Given the description of an element on the screen output the (x, y) to click on. 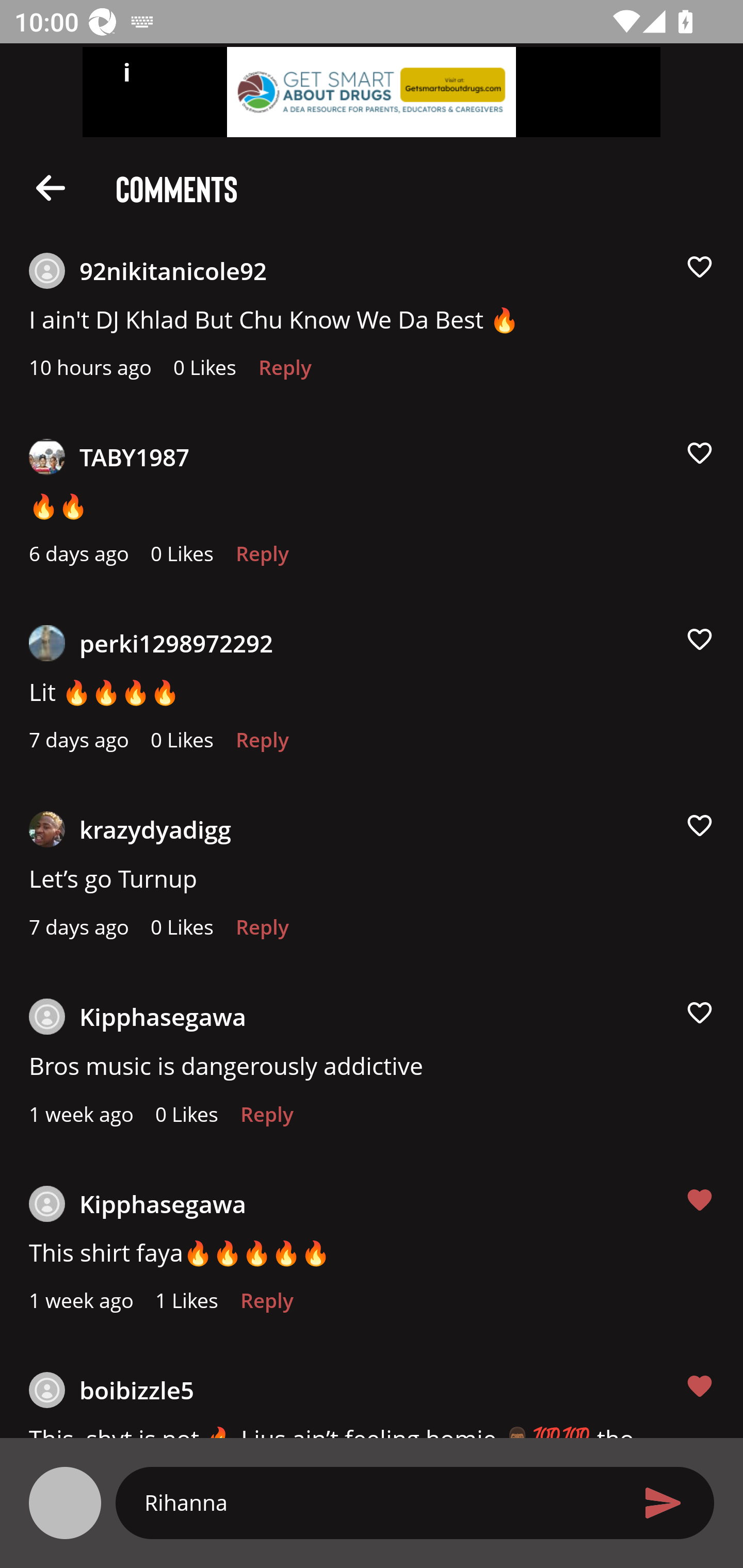
Description (50, 187)
Reply (285, 372)
Reply (261, 558)
Reply (261, 744)
Reply (261, 932)
Reply (266, 1119)
Reply (266, 1305)
Rihanna (378, 1502)
